Given the description of an element on the screen output the (x, y) to click on. 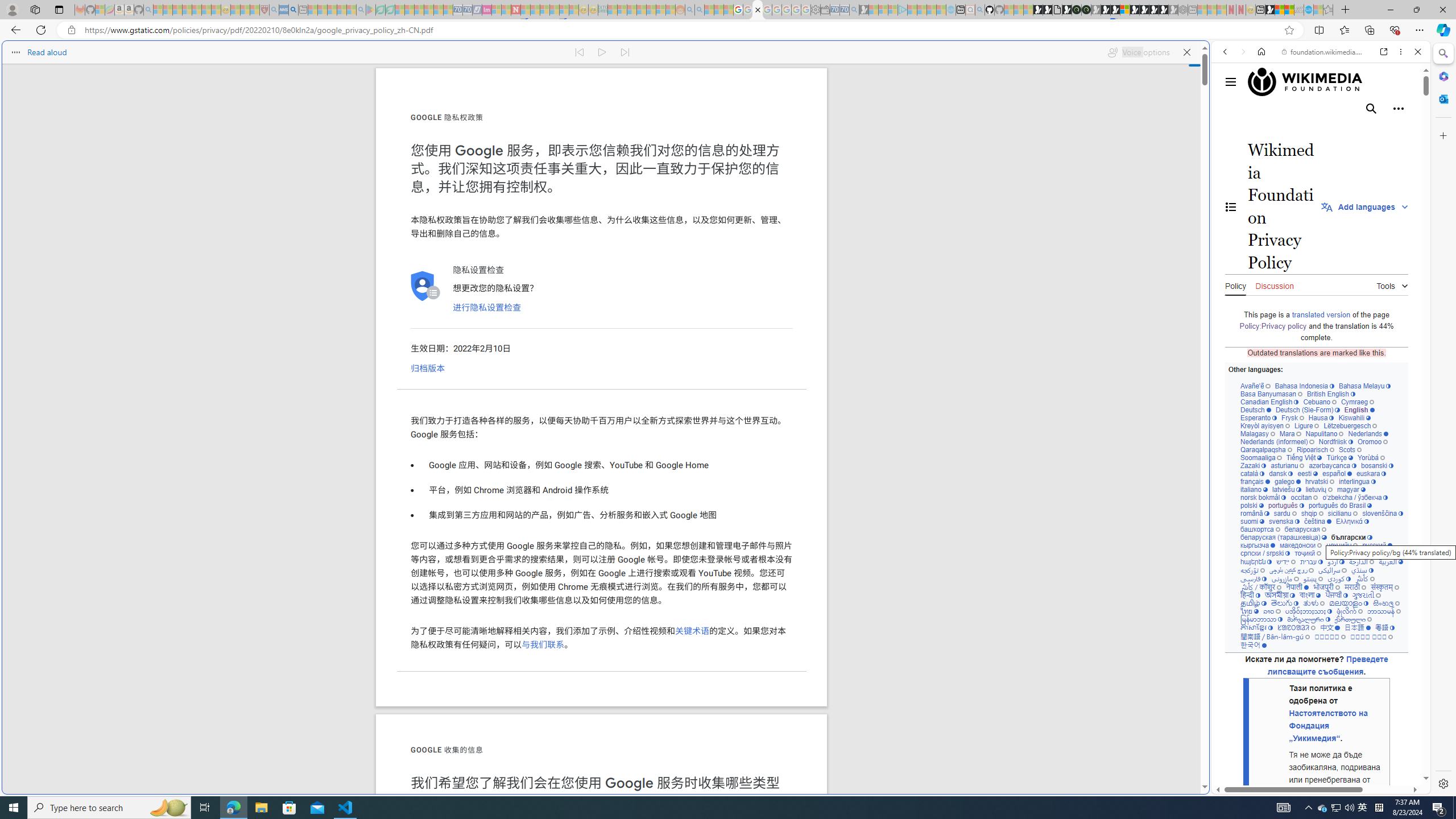
asturianu (1287, 465)
Tools (1391, 284)
suomi (1252, 520)
eesti (1307, 473)
